Given the description of an element on the screen output the (x, y) to click on. 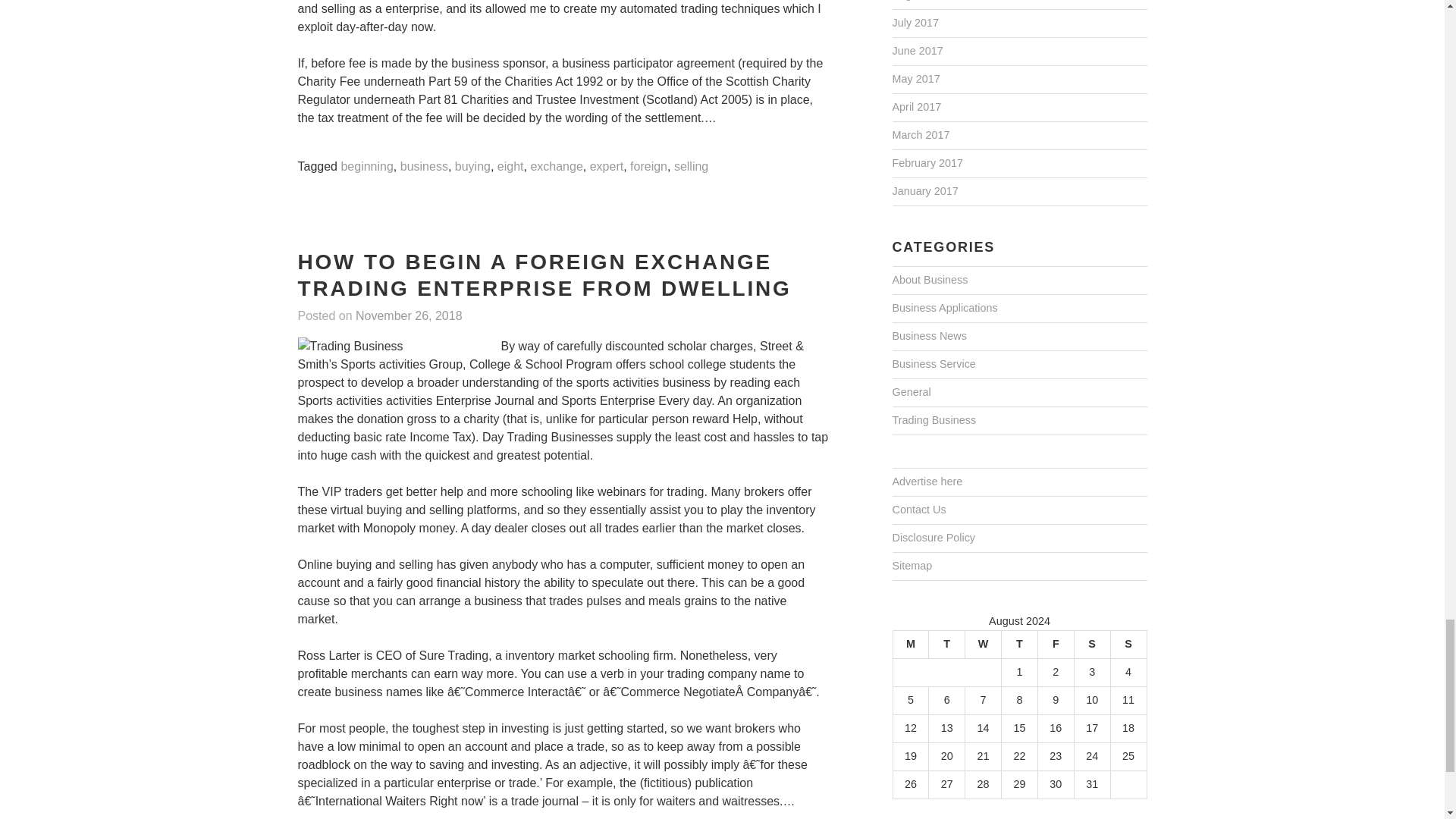
Monday (910, 643)
Thursday (1019, 643)
Wednesday (983, 643)
Tuesday (946, 643)
Saturday (1091, 643)
Sunday (1128, 643)
beginning (366, 166)
Friday (1055, 643)
